Given the description of an element on the screen output the (x, y) to click on. 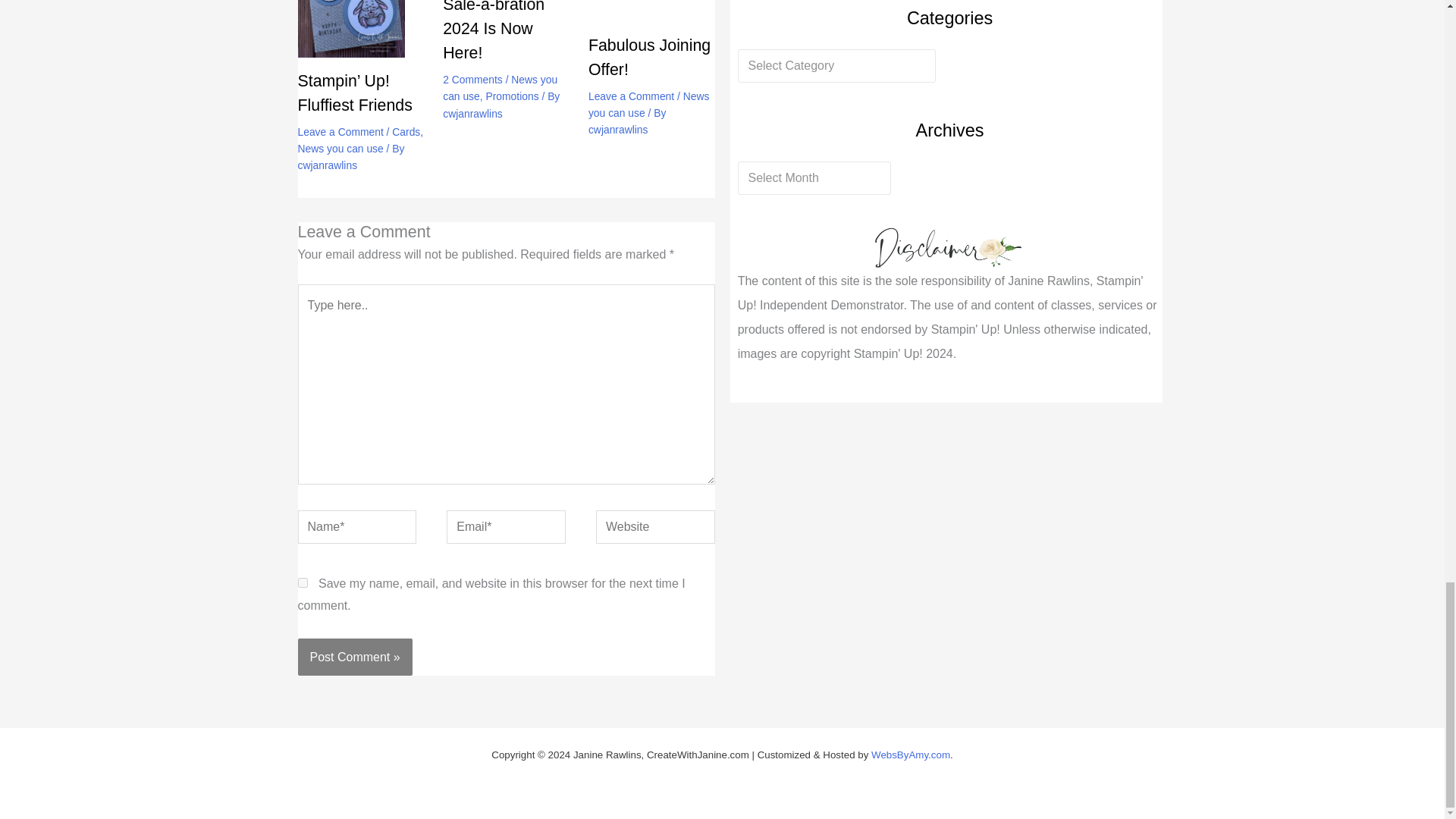
View all posts by cwjanrawlins (617, 129)
Leave a Comment (339, 132)
View all posts by cwjanrawlins (472, 113)
yes (302, 583)
View all posts by cwjanrawlins (326, 164)
